Given the description of an element on the screen output the (x, y) to click on. 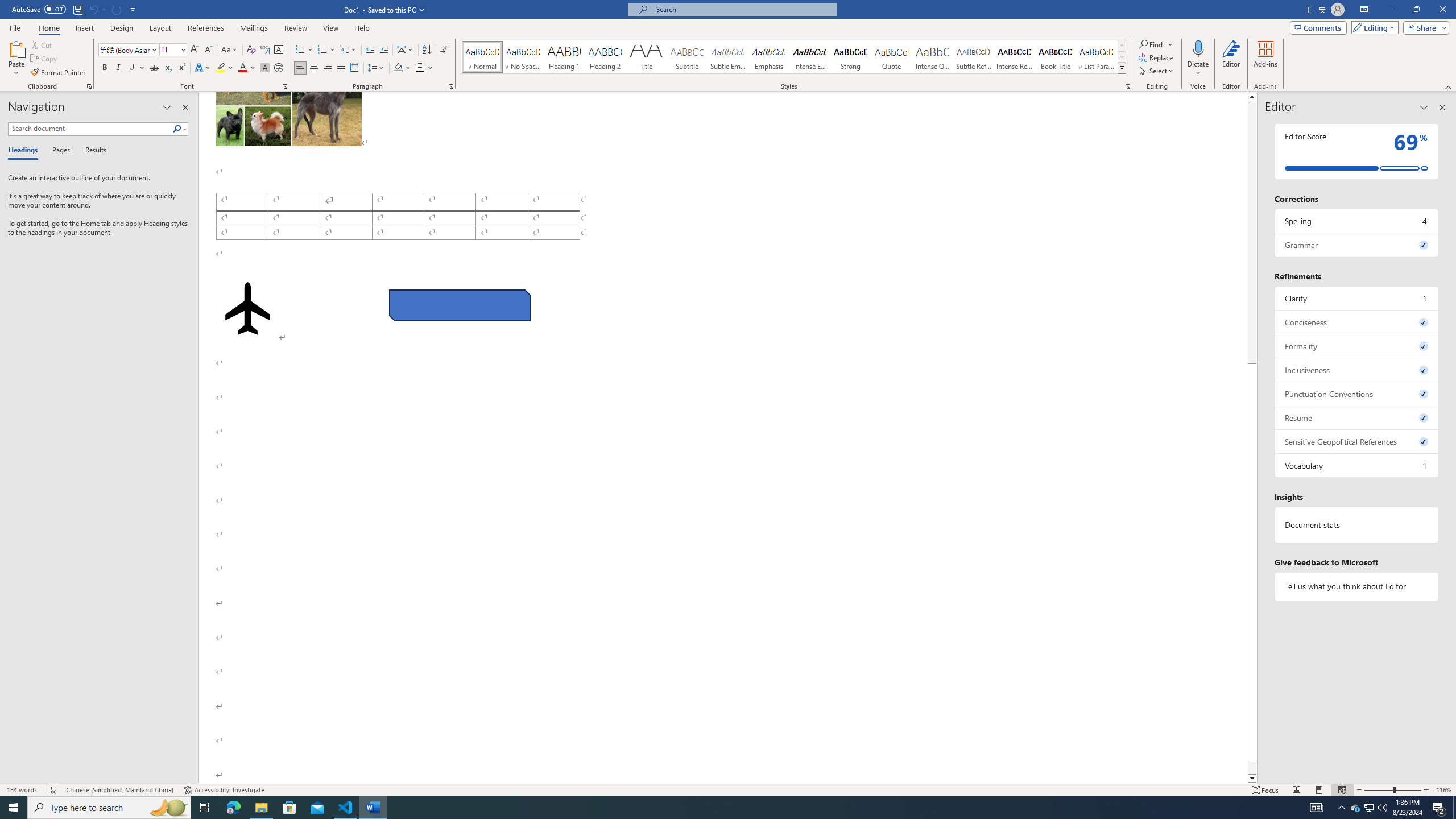
Clarity, 1 issue. Press space or enter to review items. (1356, 297)
